Given the description of an element on the screen output the (x, y) to click on. 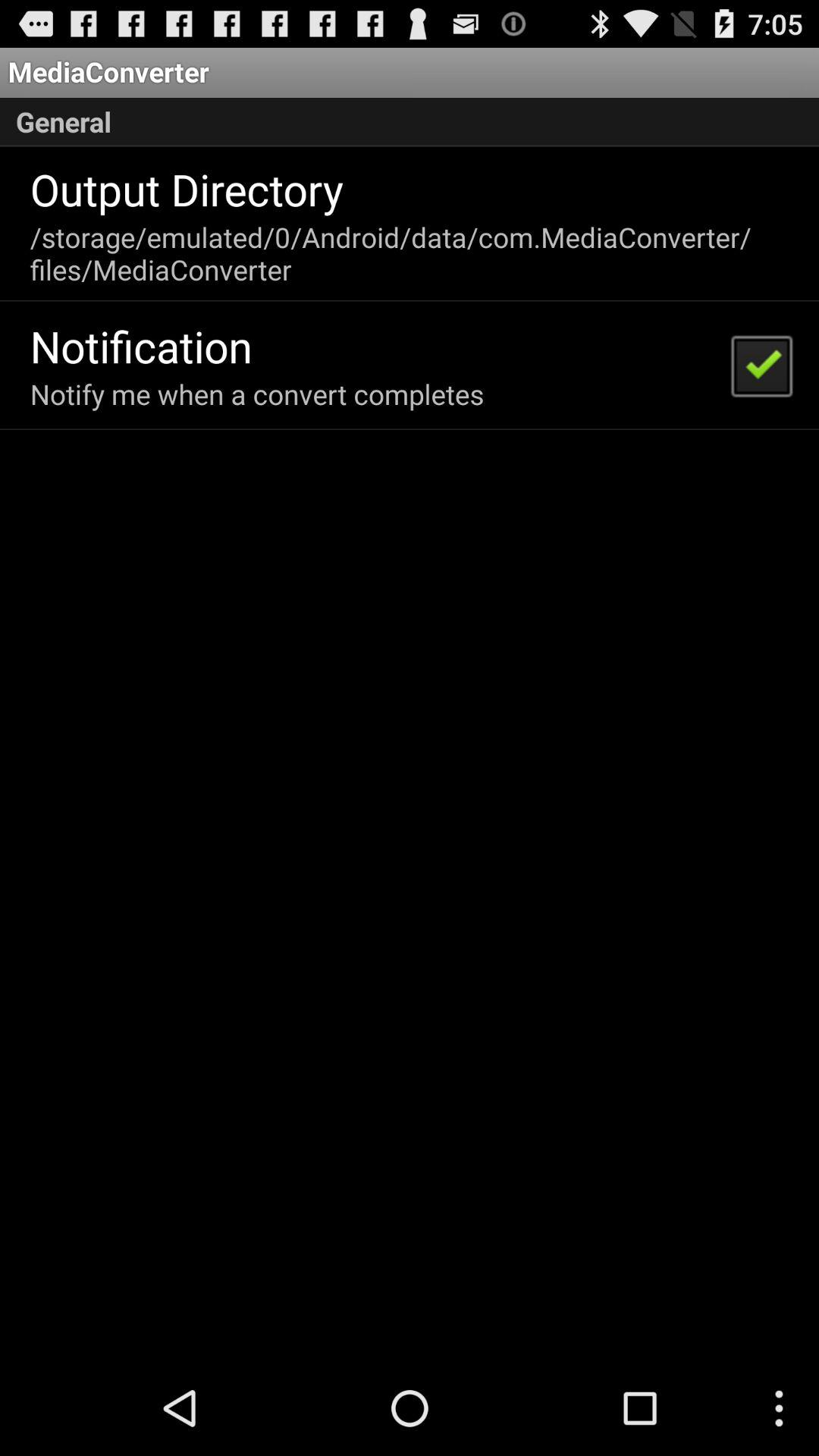
tap app below storage emulated 0 app (761, 364)
